Given the description of an element on the screen output the (x, y) to click on. 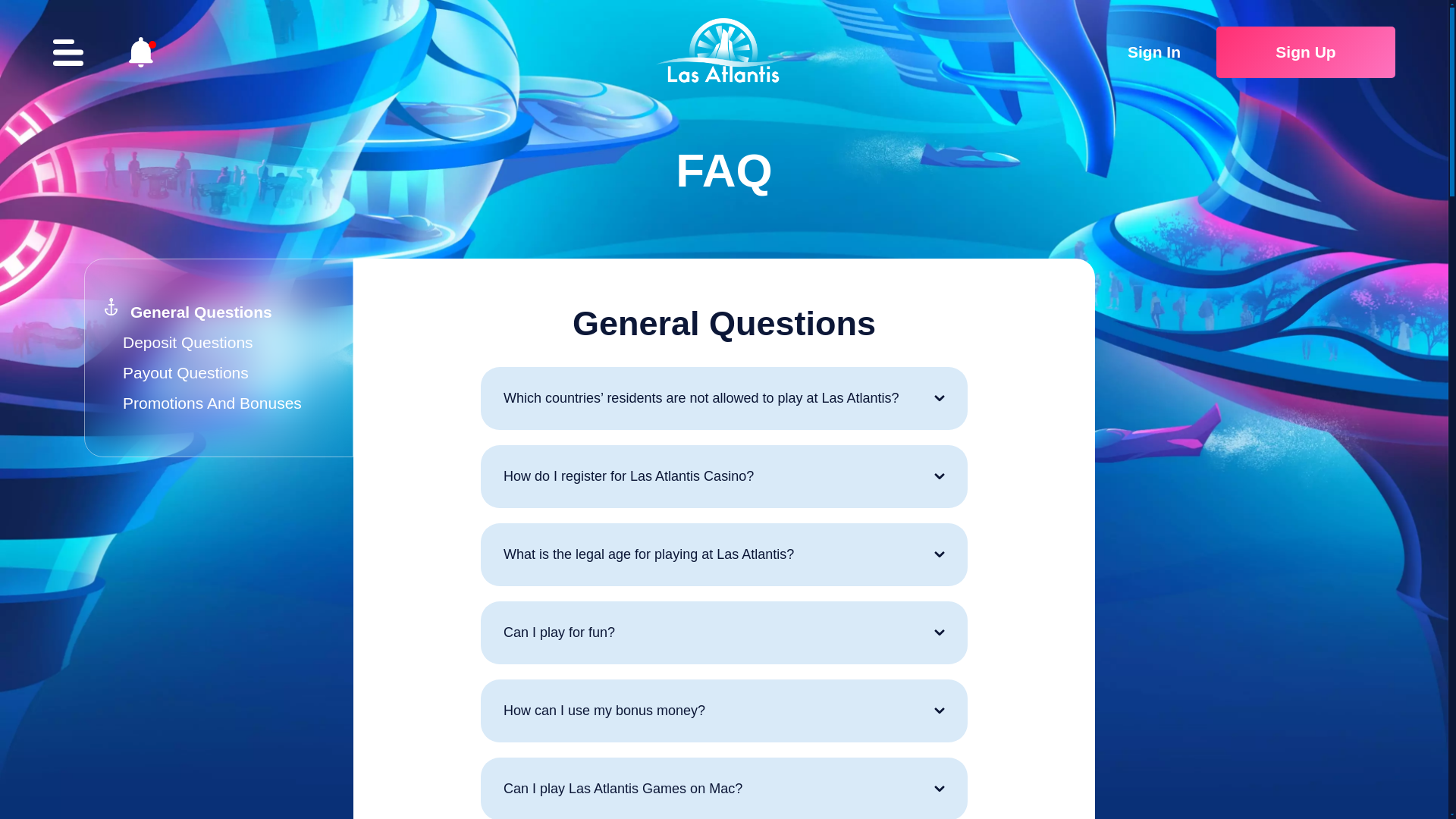
Payout Questions (185, 372)
Promotions And Bonuses (211, 402)
General Questions (201, 312)
Deposit Questions (187, 342)
